Given the description of an element on the screen output the (x, y) to click on. 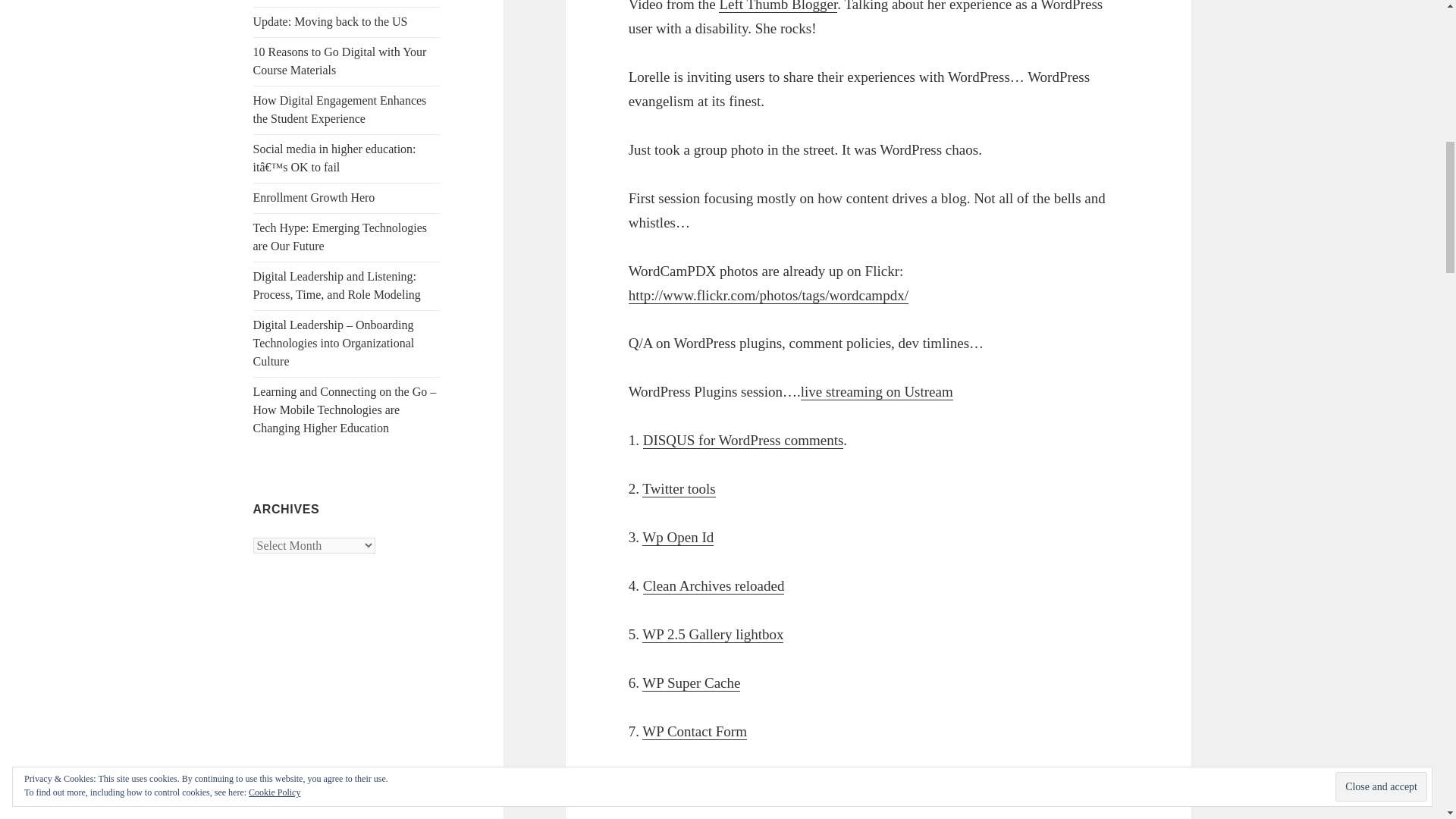
WP Contact Form (694, 731)
WP 2.5 Gallery lightbox (712, 634)
How Digital Engagement Enhances the Student Experience (339, 109)
Twitter tools (678, 488)
WP Super Cache (690, 682)
live streaming on Ustream (876, 392)
DISQUS for WordPress comments (743, 440)
Wp Open Id (677, 537)
10 Reasons to Go Digital with Your Course Materials (339, 60)
Enrollment Growth Hero (314, 196)
Left Thumb Blogger (778, 6)
Tech Hype: Emerging Technologies are Our Future (340, 236)
Update: Moving back to the US (330, 21)
Clean Archives reloaded (713, 586)
